Given the description of an element on the screen output the (x, y) to click on. 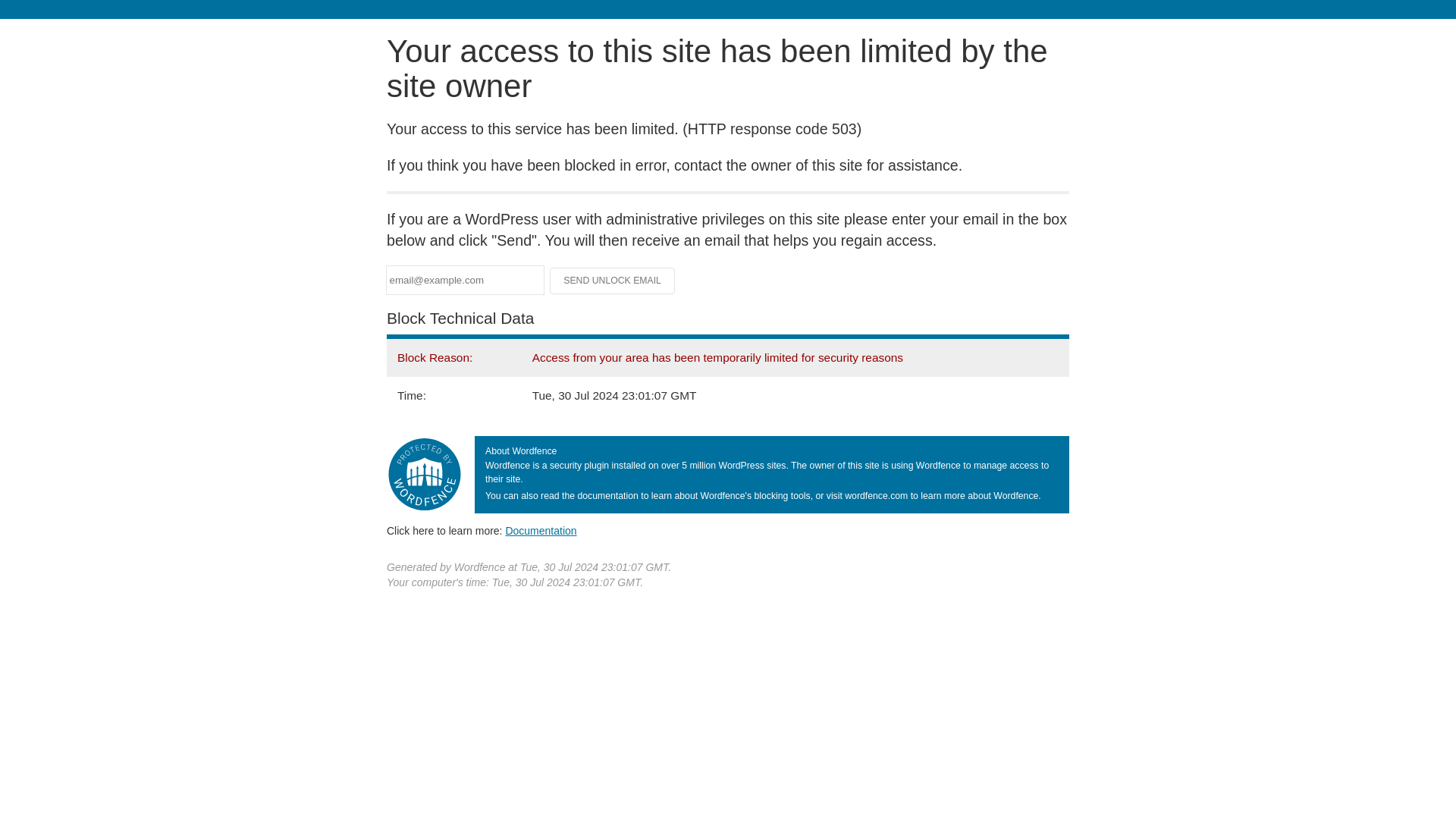
Send Unlock Email (612, 280)
Send Unlock Email (612, 280)
